Given the description of an element on the screen output the (x, y) to click on. 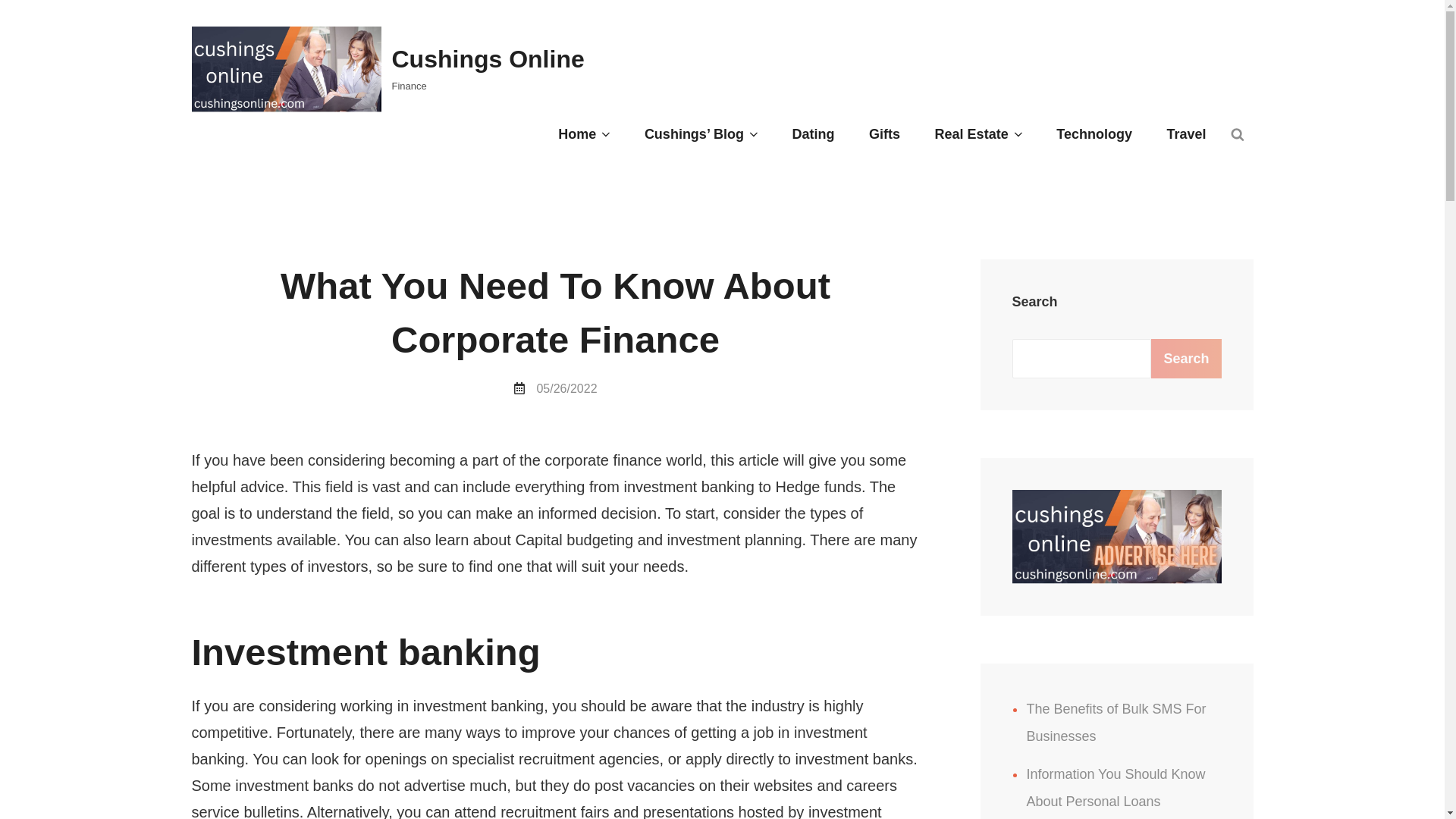
Gifts (884, 135)
Real Estate (978, 135)
Search (1186, 358)
Travel (1186, 135)
Home (583, 135)
Cushings Online (487, 58)
The Benefits of Bulk SMS For Businesses (1115, 722)
Dating (812, 135)
Technology (1094, 135)
Information You Should Know About Personal Loans (1115, 787)
